Given the description of an element on the screen output the (x, y) to click on. 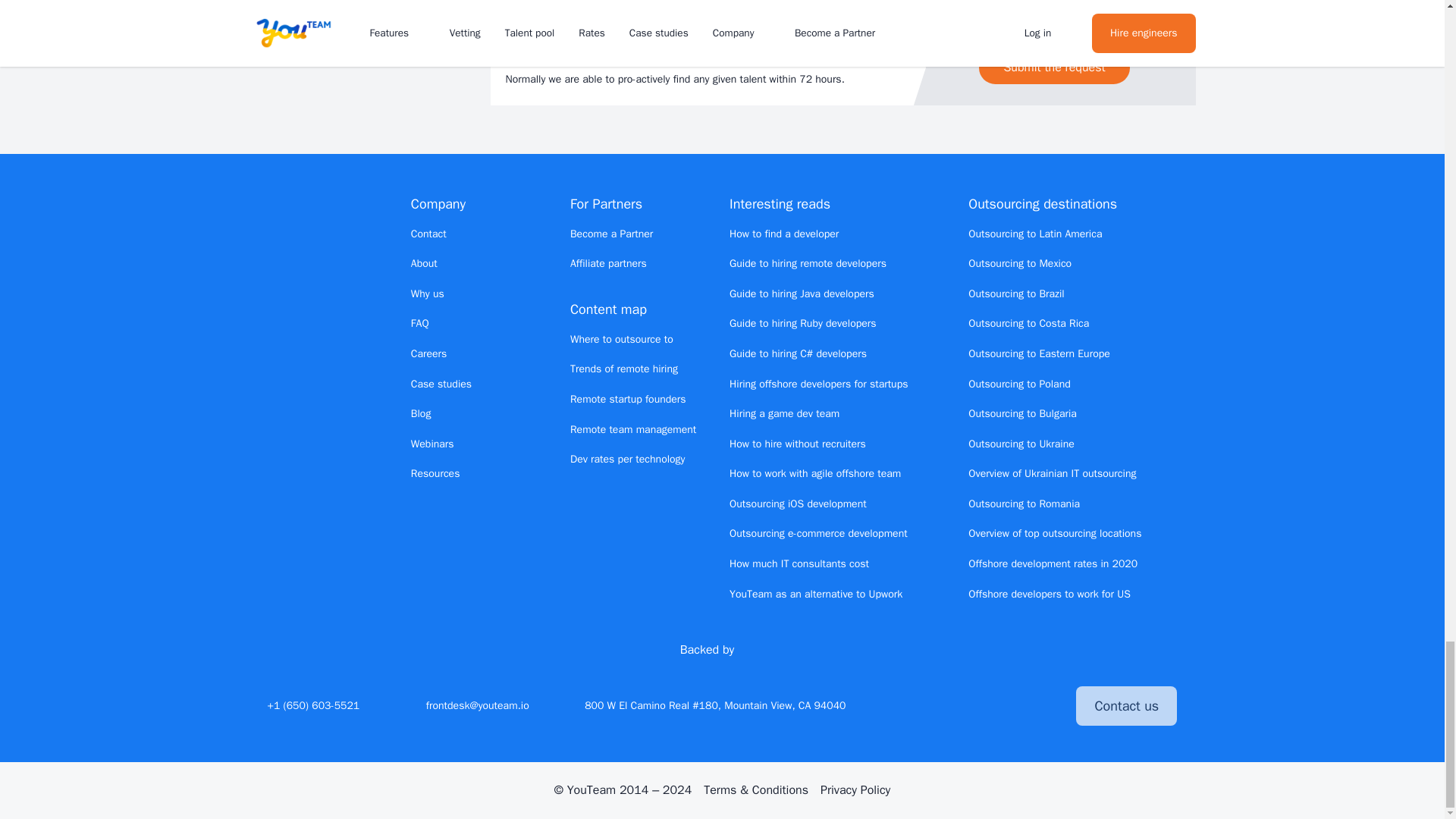
Twitter (937, 705)
Facebook (991, 705)
LinkedIn (964, 705)
Privacy Policy (855, 790)
